Given the description of an element on the screen output the (x, y) to click on. 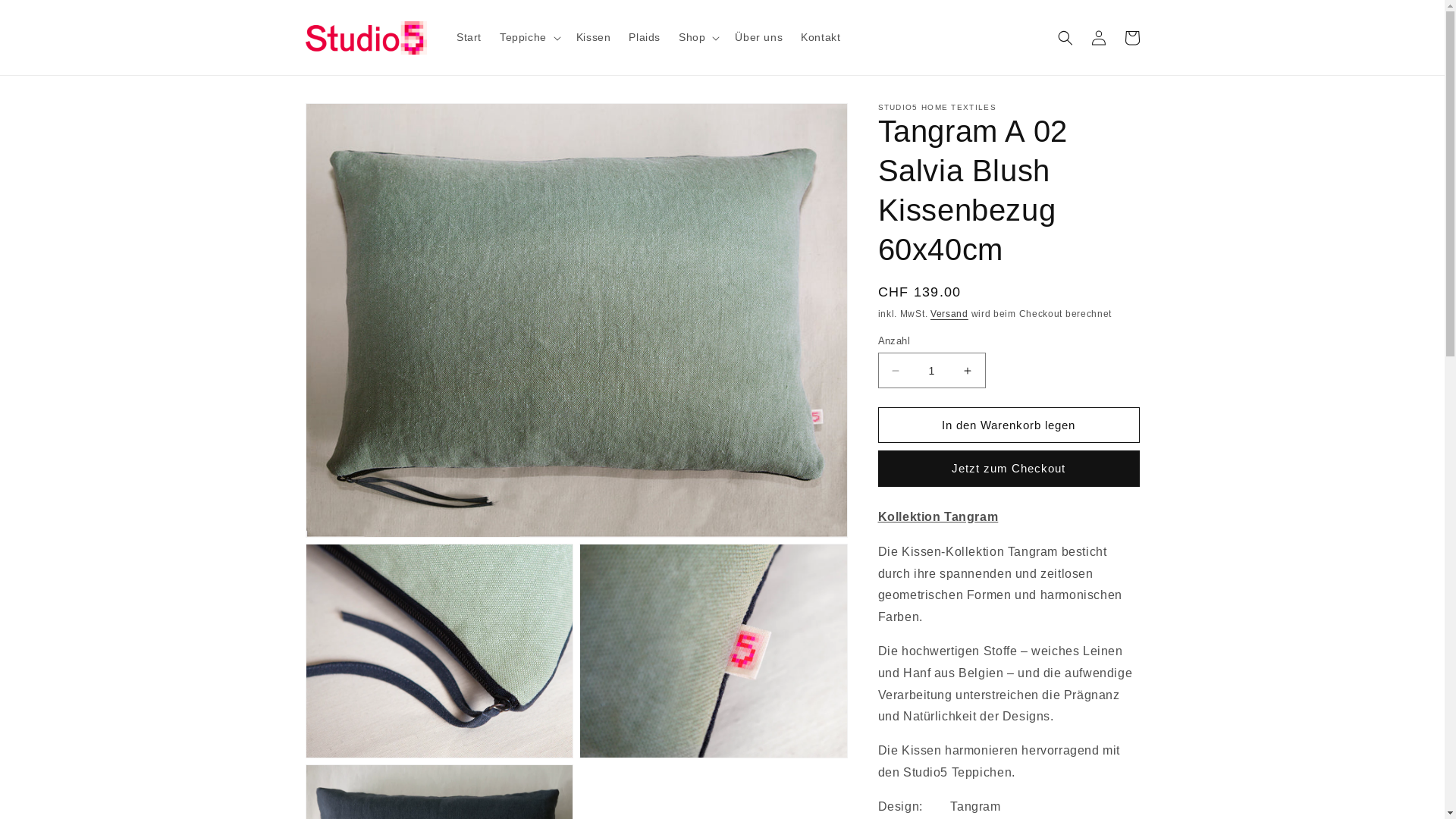
Warenkorb Element type: text (1131, 37)
In den Warenkorb legen Element type: text (1008, 424)
Kontakt Element type: text (820, 37)
Plaids Element type: text (644, 37)
Start Element type: text (468, 37)
Kissen Element type: text (593, 37)
Versand Element type: text (949, 313)
Jetzt zum Checkout Element type: text (1008, 468)
Einloggen Element type: text (1097, 37)
Zu Produktinformationen springen Element type: text (350, 120)
